Given the description of an element on the screen output the (x, y) to click on. 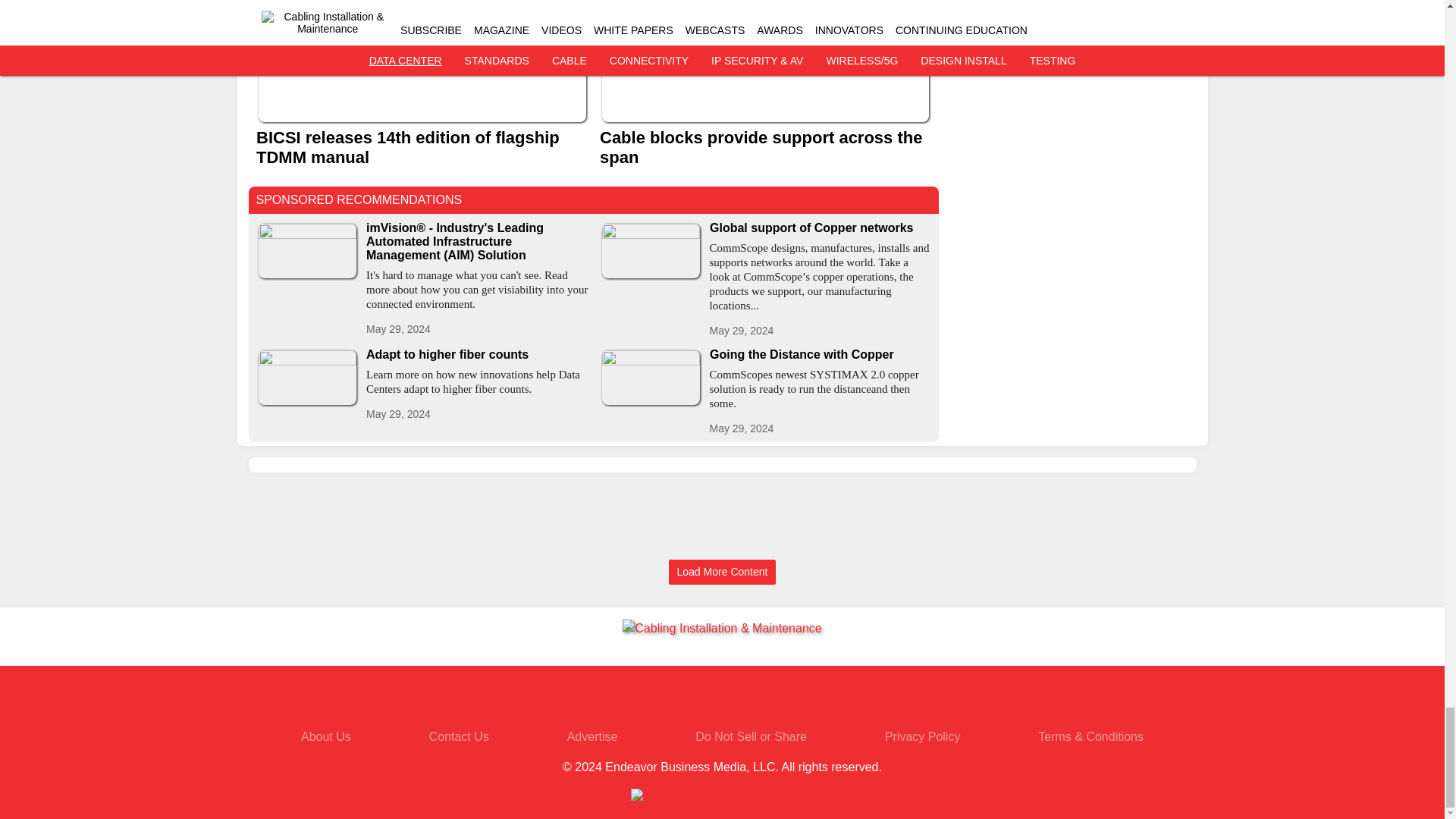
Global support of Copper networks (820, 228)
Cable blocks provide support across the span (764, 147)
Going the Distance with Copper (820, 354)
BICSI releases 14th edition of flagship TDMM manual (422, 147)
Adapt to higher fiber counts (476, 354)
